Given the description of an element on the screen output the (x, y) to click on. 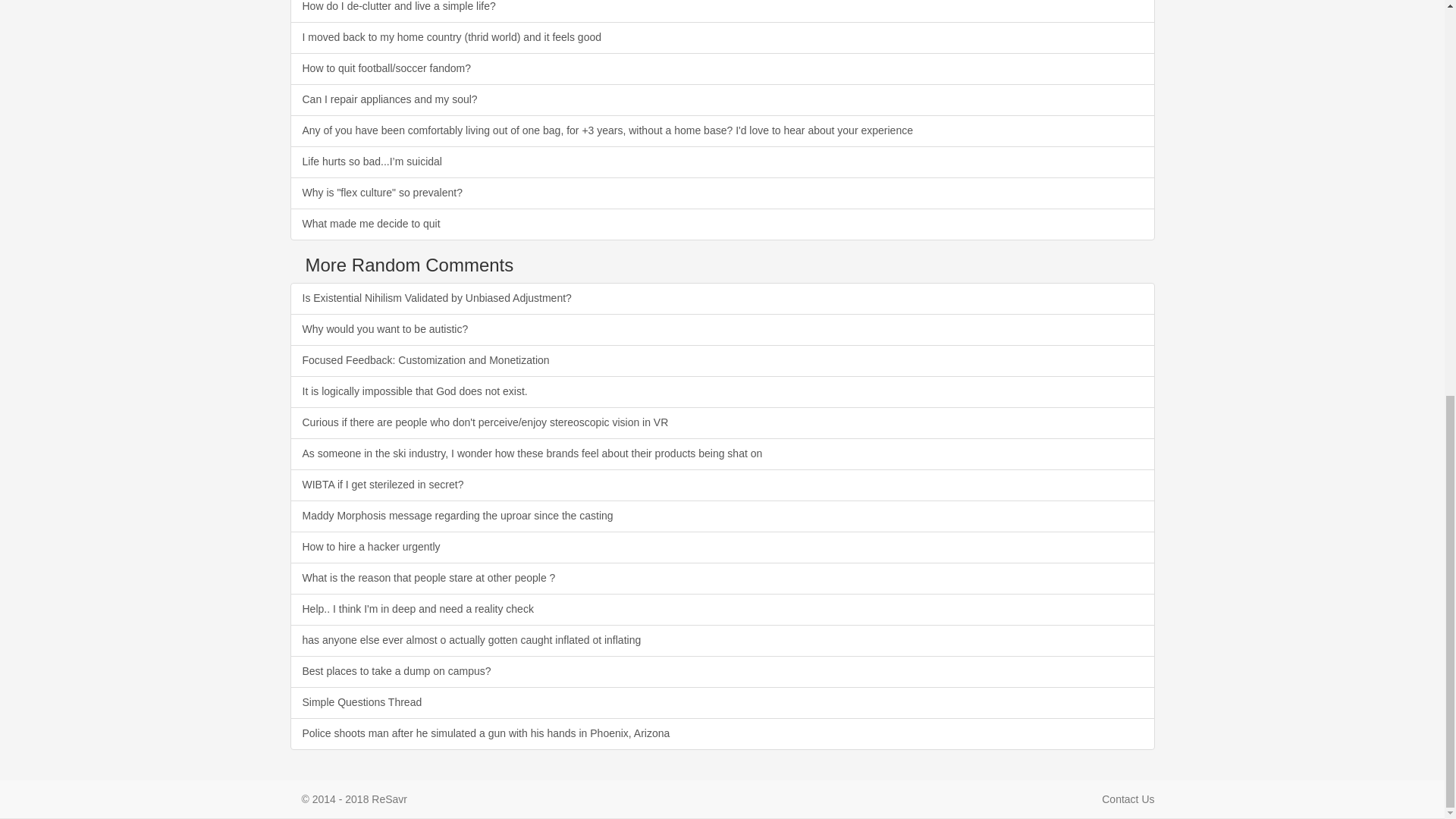
Why is "flex culture" so prevalent? (721, 193)
Why would you want to be autistic? (721, 329)
What made me decide to quit (721, 224)
It is logically impossible that God does not exist. (721, 391)
Can I repair appliances and my soul? (721, 100)
Focused Feedback: Customization and Monetization (721, 360)
How to hire a hacker urgently (721, 547)
How do I de-clutter and live a simple life? (721, 11)
